Given the description of an element on the screen output the (x, y) to click on. 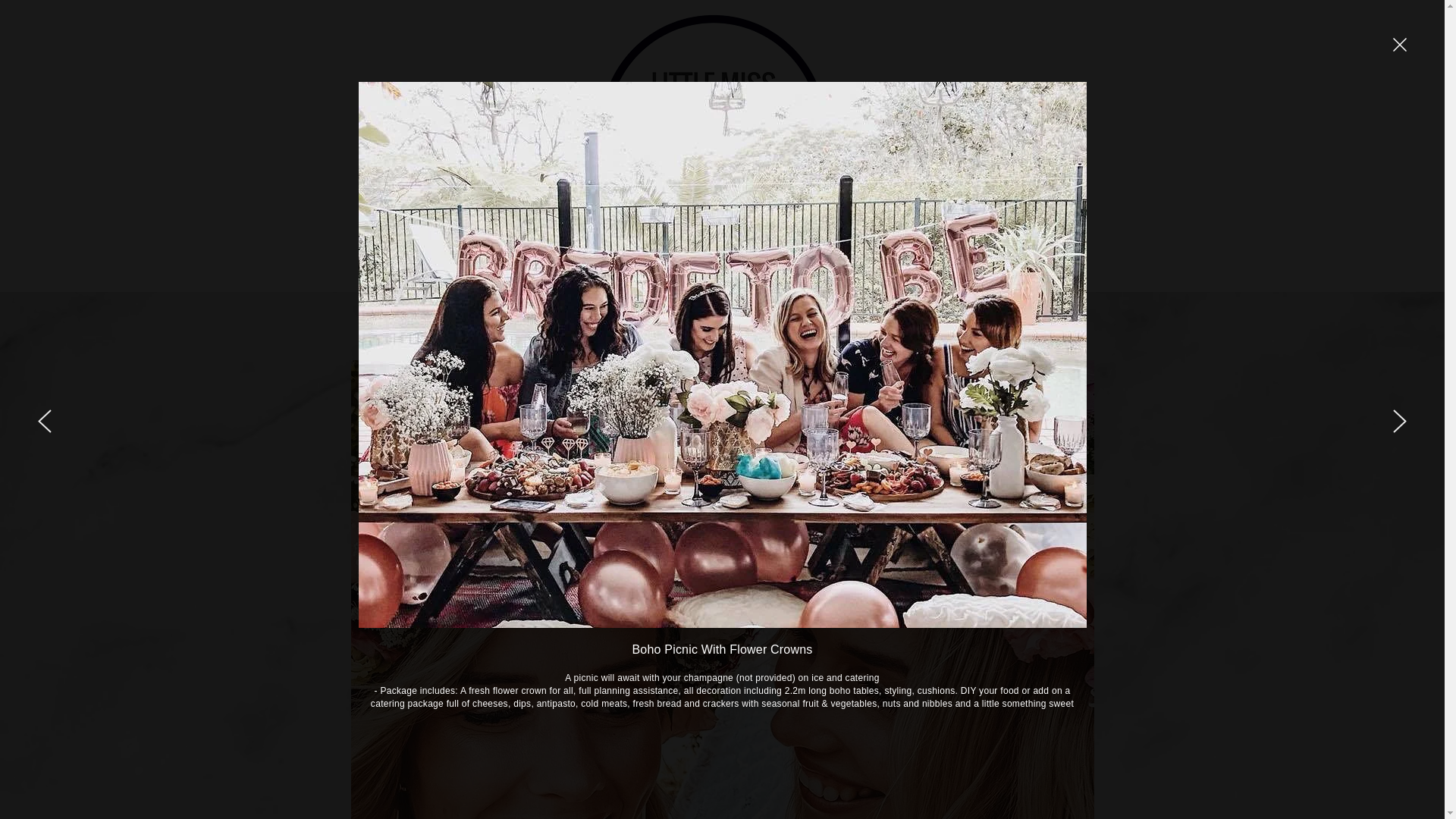
HOME Element type: text (455, 271)
HELLO Element type: text (987, 271)
LITTLE MISS PICNIC PLANNER Element type: text (599, 271)
LOVE Element type: text (925, 271)
